Given the description of an element on the screen output the (x, y) to click on. 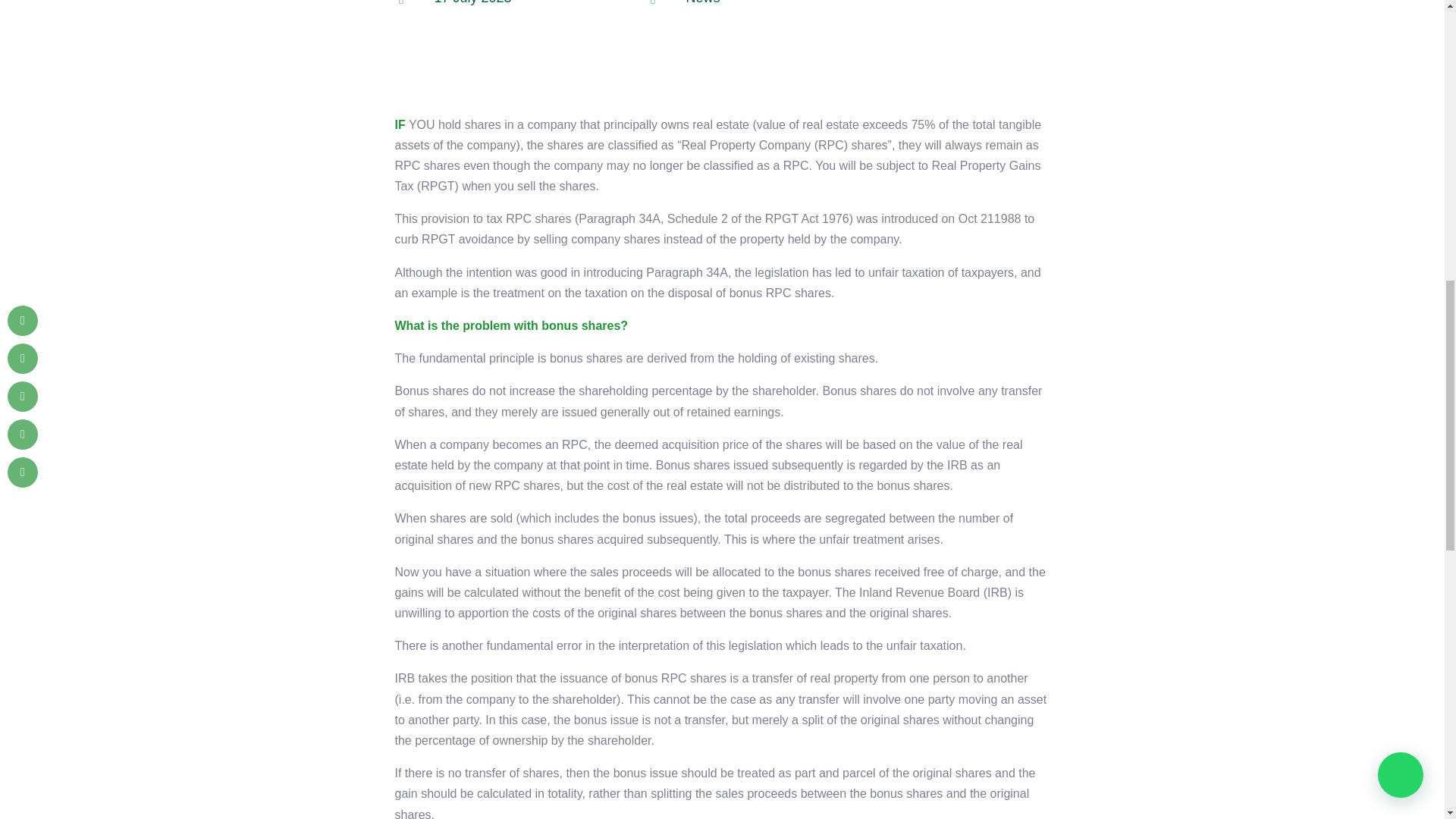
News (702, 2)
